Given the description of an element on the screen output the (x, y) to click on. 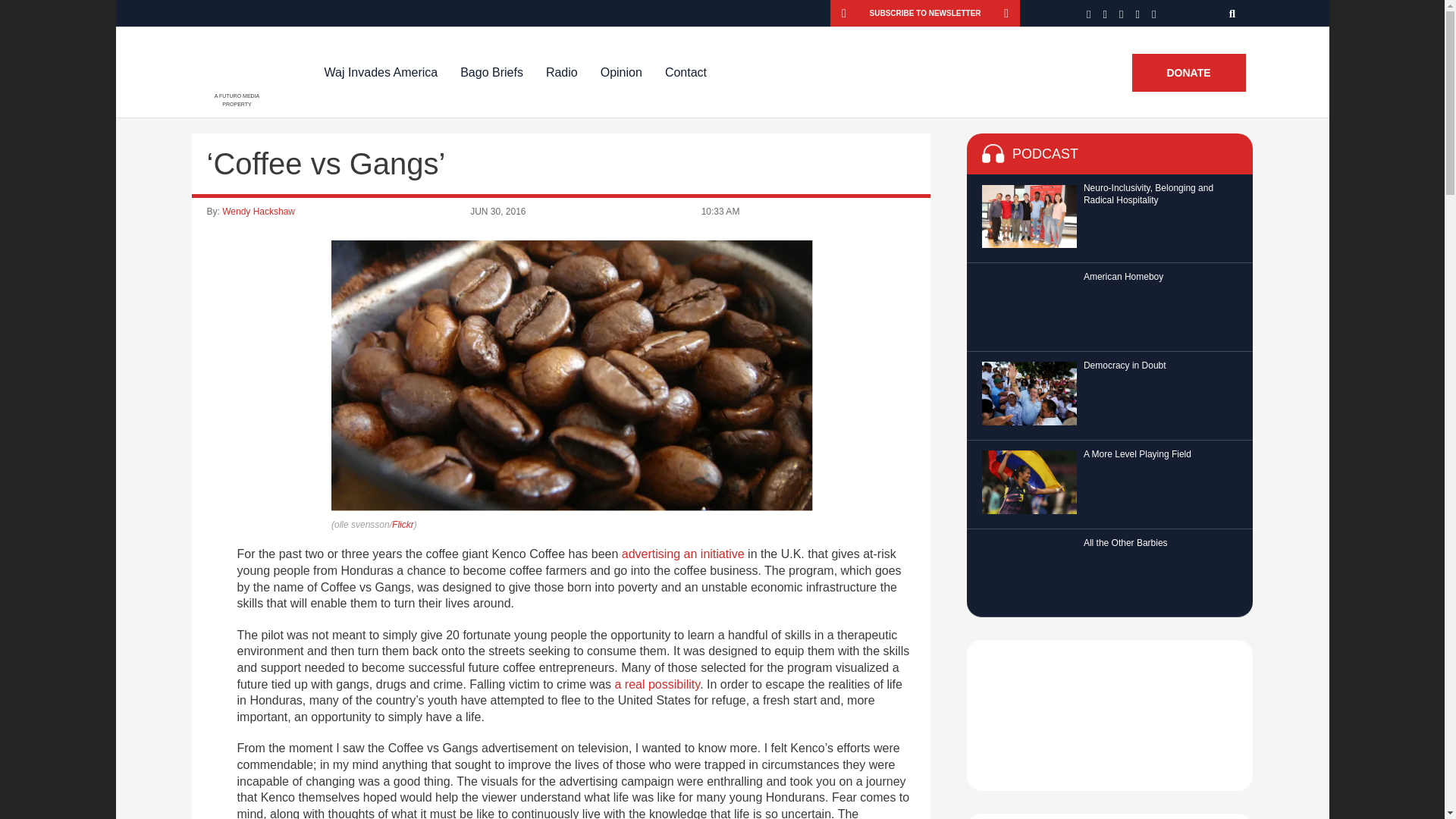
Flickr (402, 524)
Wendy Hackshaw (258, 211)
Search (1233, 13)
DONATE (1187, 72)
Subscribe to newsletter (924, 13)
Search (1233, 13)
Waj Invades America (380, 72)
advertising an initiative (682, 553)
a real possibility (657, 684)
Bago Briefs (491, 72)
Posts by Wendy Hackshaw (258, 211)
Search (1233, 13)
